Given the description of an element on the screen output the (x, y) to click on. 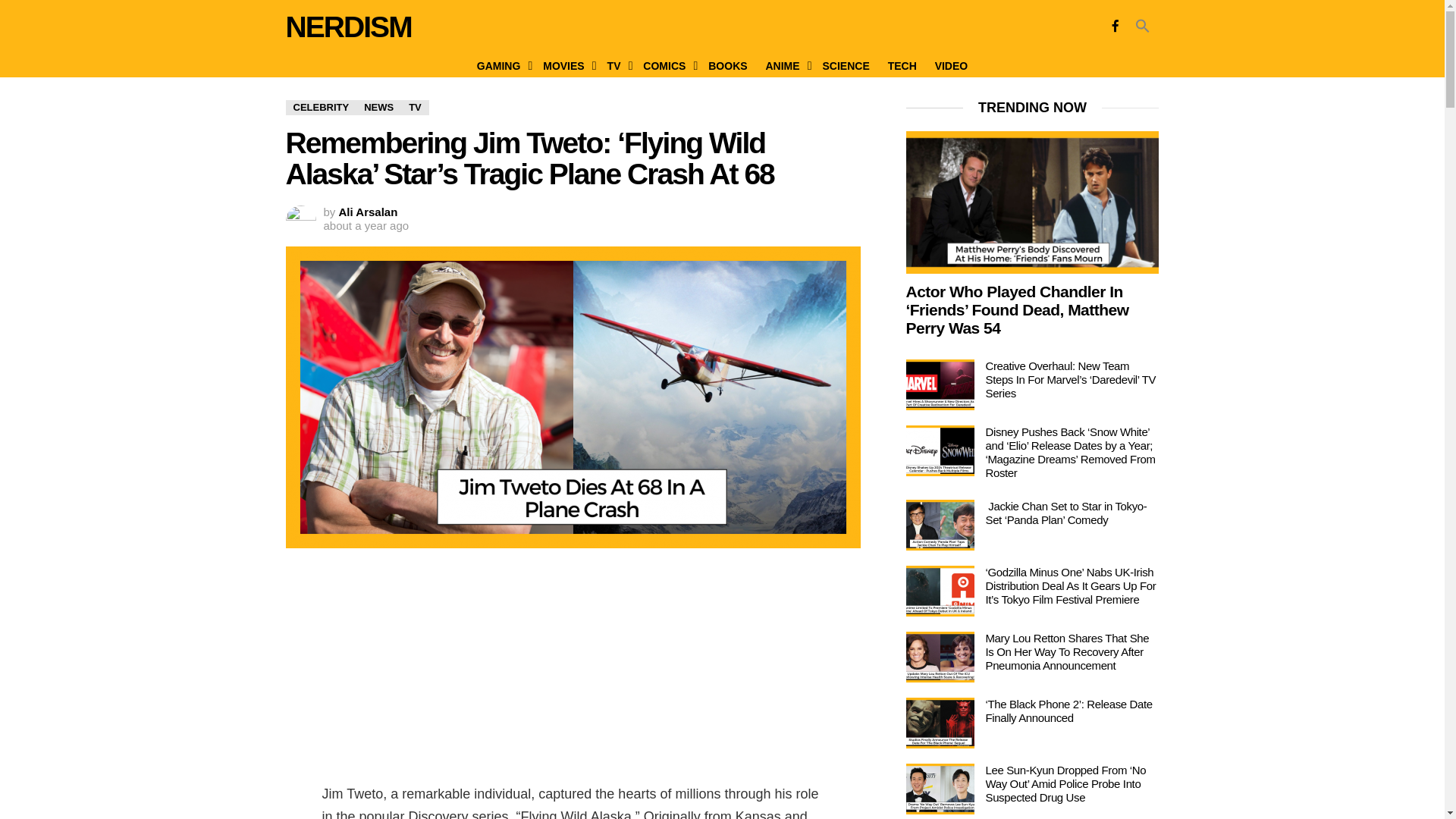
COMICS (665, 65)
NERDISM (347, 26)
BOOKS (727, 65)
MOVIES (565, 65)
NEWS (378, 107)
VIDEO (951, 65)
Posts by Ali Arsalan (368, 211)
SCIENCE (844, 65)
CELEBRITY (320, 107)
ANIME (783, 65)
TECH (902, 65)
TV (616, 65)
June 24, 2023, 2:53 am (366, 225)
GAMING (500, 65)
TV (415, 107)
